Given the description of an element on the screen output the (x, y) to click on. 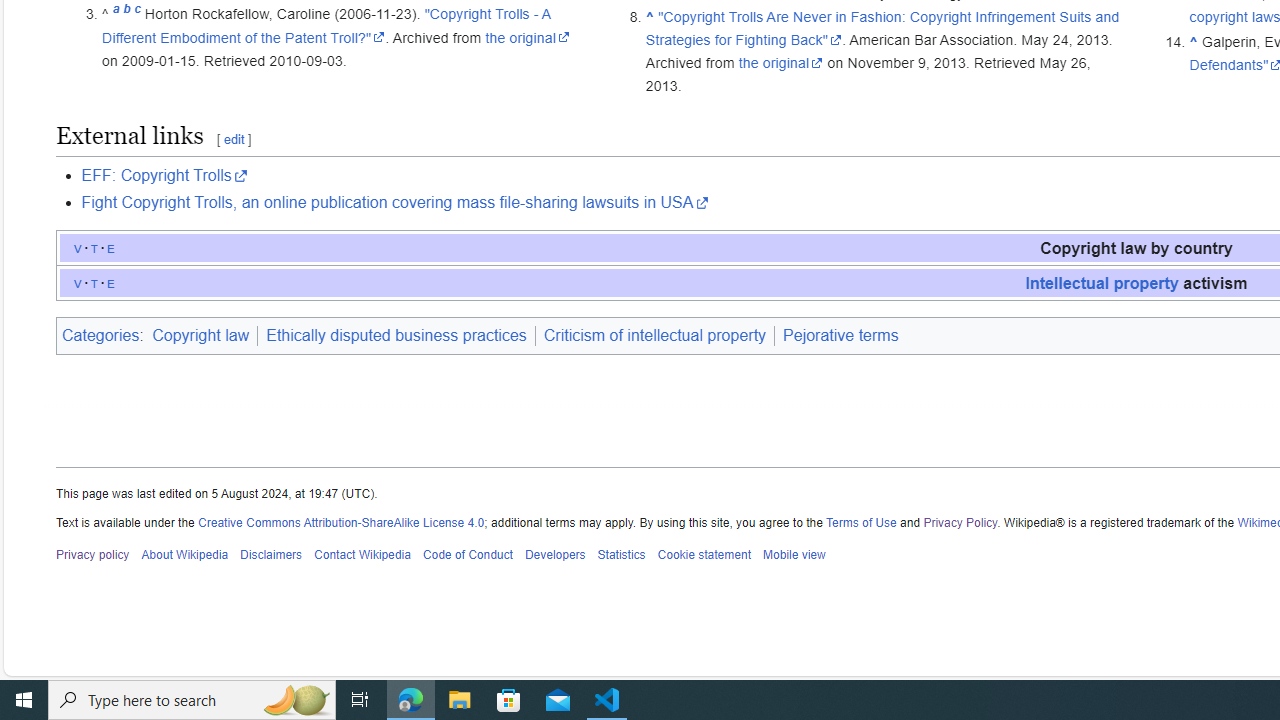
Developers (554, 555)
Privacy policy (93, 555)
Ethically disputed business practices (396, 336)
Mobile view (793, 555)
edit (233, 139)
b (126, 14)
v (77, 282)
the original (781, 63)
Criticism of intellectual property (653, 336)
Ethically disputed business practices (396, 335)
About Wikipedia (184, 555)
Categories (100, 335)
e (111, 282)
EFF: Copyright Trolls (164, 176)
